Given the description of an element on the screen output the (x, y) to click on. 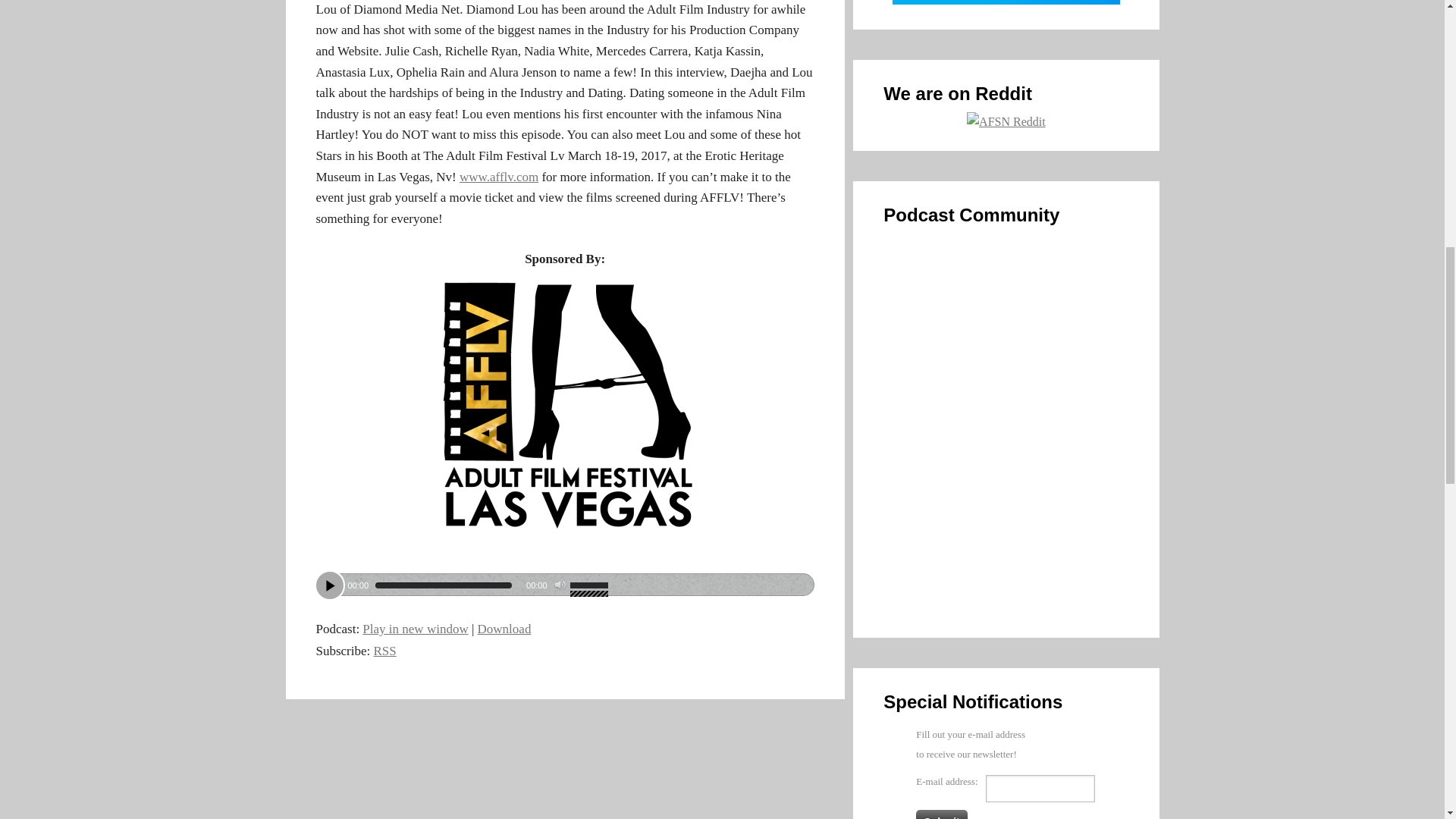
RSS (385, 650)
Subscribe via RSS (385, 650)
Download (504, 628)
Submit (940, 814)
Download (504, 628)
Mute (560, 585)
Play in new window (414, 628)
Submit (940, 814)
Play (328, 584)
www.afflv.com (499, 176)
